Given the description of an element on the screen output the (x, y) to click on. 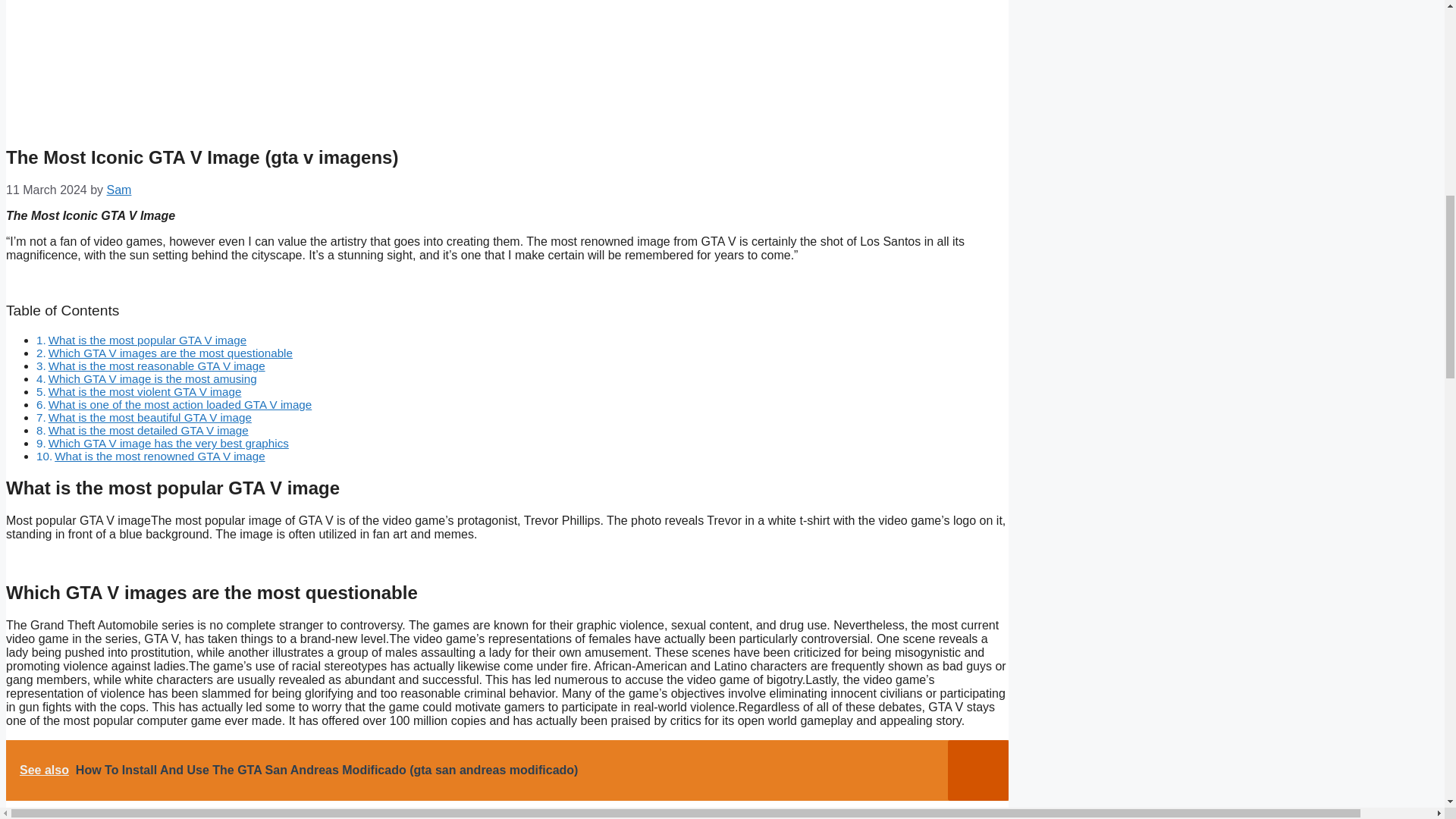
Which GTA V images are the most questionable (170, 352)
What is one of the most action loaded GTA V image (180, 404)
What is the most violent GTA V image (144, 391)
What is the most violent GTA V image (144, 391)
Which GTA V image is the most amusing (152, 378)
What is the most beautiful GTA V image (149, 417)
What is the most detailed GTA V image (148, 430)
What is the most beautiful GTA V image (149, 417)
Which GTA V image is the most amusing (152, 378)
Which GTA V image has the very best graphics (168, 442)
View all posts by Sam (119, 189)
Which GTA V images are the most questionable (170, 352)
What is the most detailed GTA V image (148, 430)
Sam (119, 189)
What is one of the most action loaded GTA V image (180, 404)
